Given the description of an element on the screen output the (x, y) to click on. 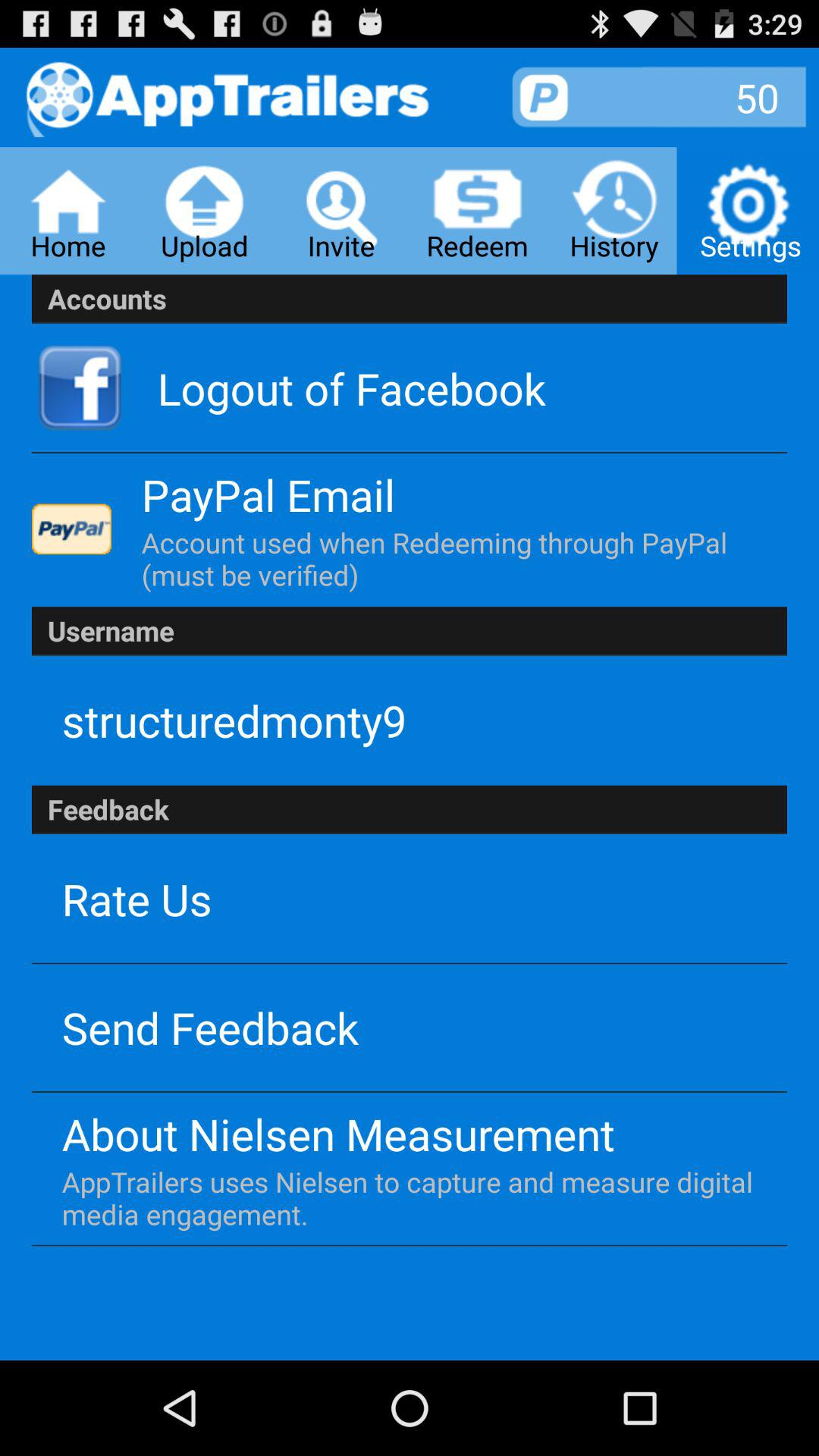
turn on app at the bottom left corner (209, 1027)
